Given the description of an element on the screen output the (x, y) to click on. 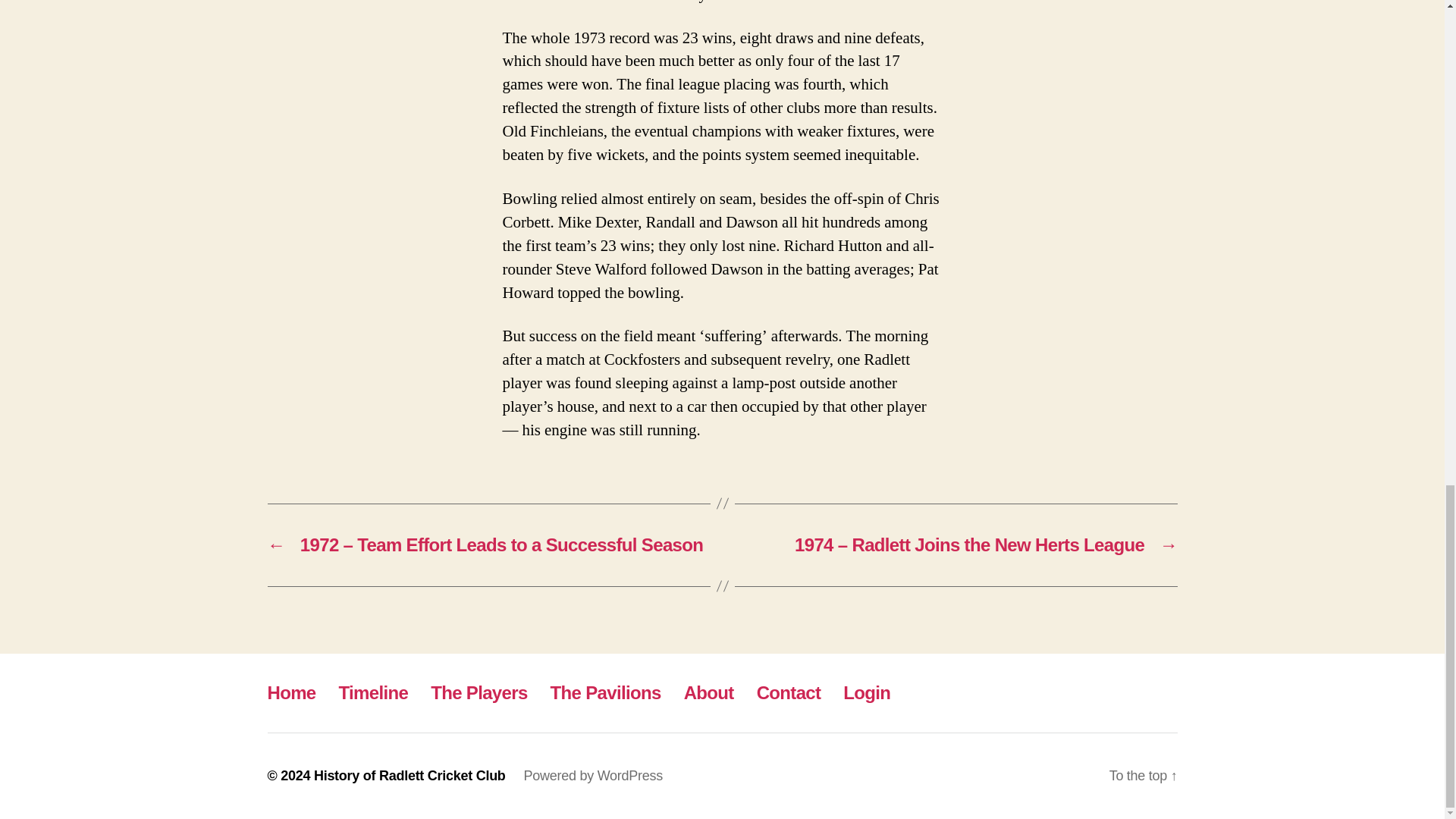
Contact (789, 692)
Login (866, 692)
Home (290, 692)
The Players (478, 692)
Timeline (374, 692)
History of Radlett Cricket Club (409, 775)
About (708, 692)
The Pavilions (605, 692)
Powered by WordPress (593, 775)
